Given the description of an element on the screen output the (x, y) to click on. 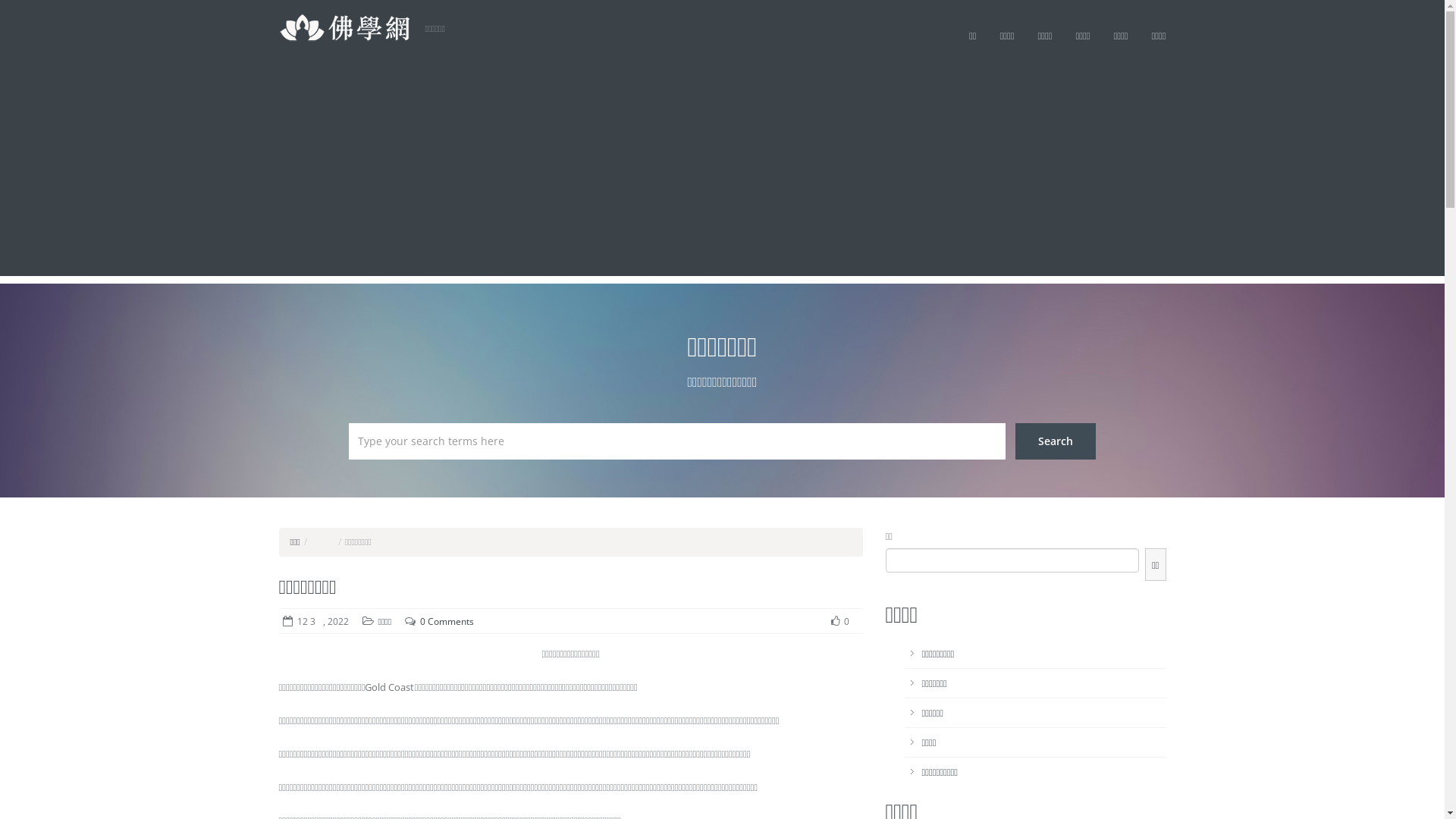
* Please enter a search term! Element type: hover (676, 441)
Advertisement Element type: hover (721, 169)
Search Element type: text (1055, 441)
0 Comments Element type: text (446, 621)
